Given the description of an element on the screen output the (x, y) to click on. 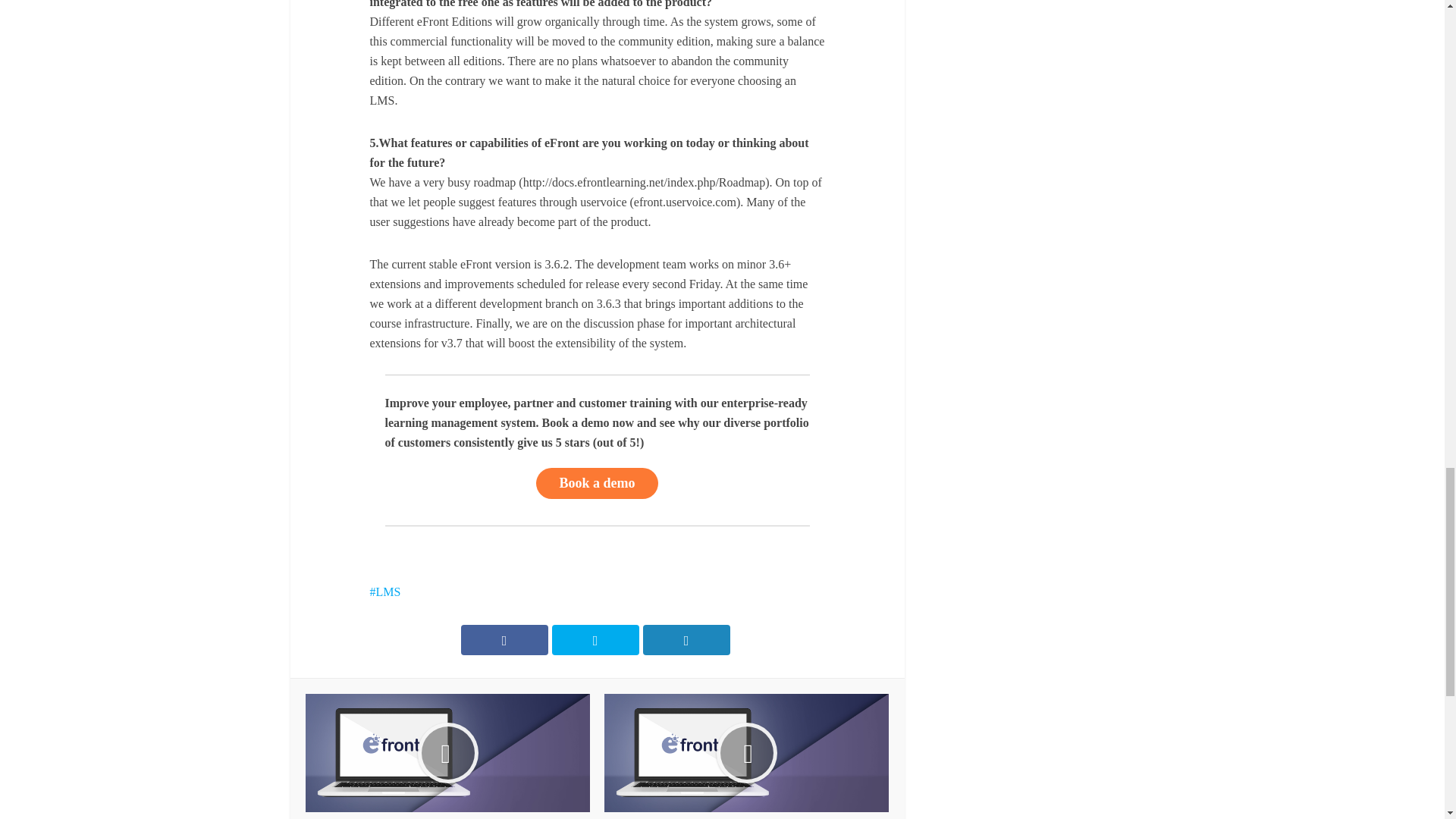
Exclusive offers for eFront facebook fans (447, 756)
eFront Wins Learning Technology Award (746, 756)
Book a demo (596, 482)
LMS (385, 591)
